Given the description of an element on the screen output the (x, y) to click on. 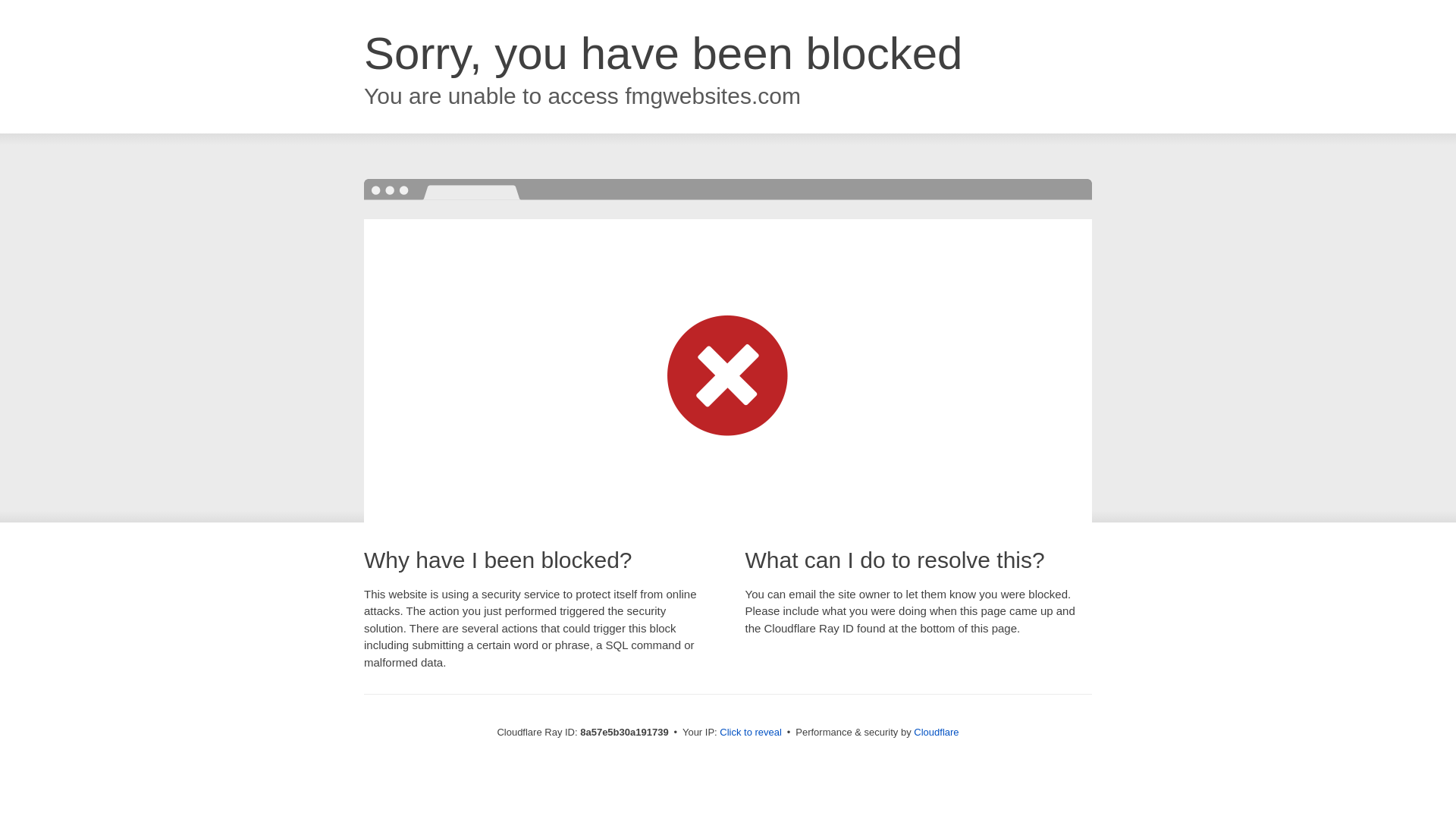
Cloudflare (936, 731)
Click to reveal (750, 732)
